Given the description of an element on the screen output the (x, y) to click on. 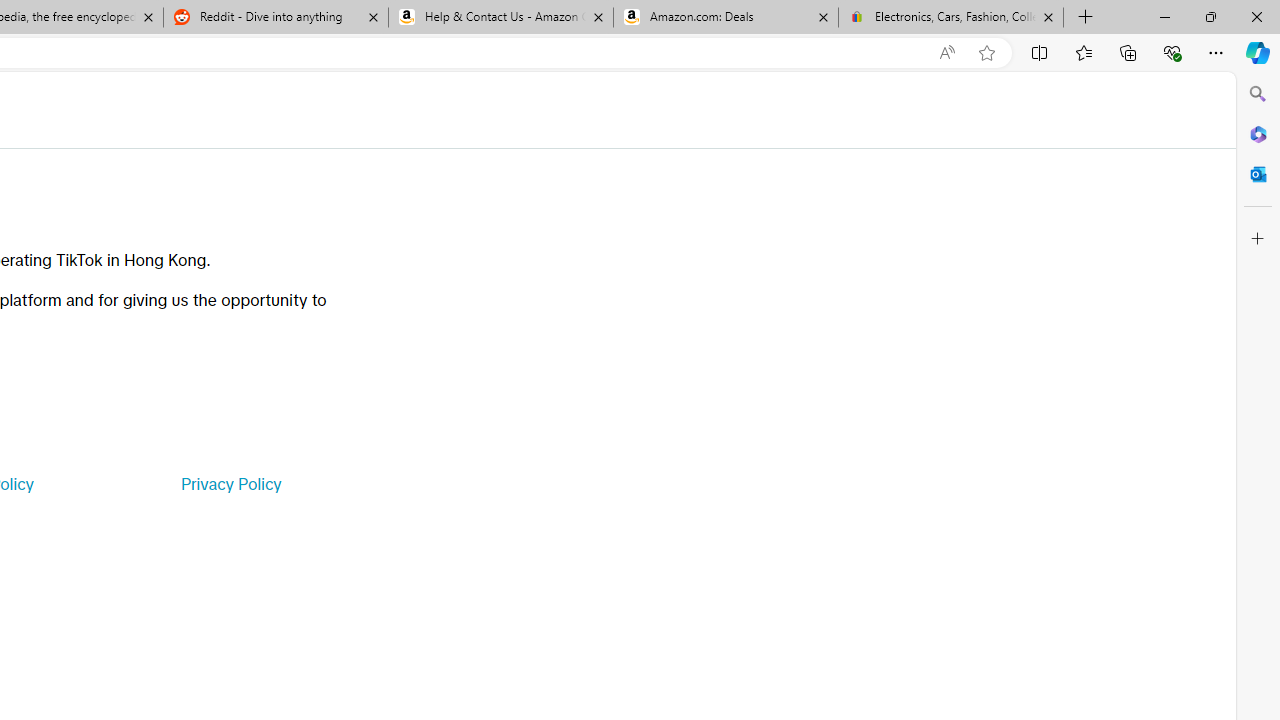
Amazon.com: Deals (726, 17)
Privacy Policy (230, 484)
